Given the description of an element on the screen output the (x, y) to click on. 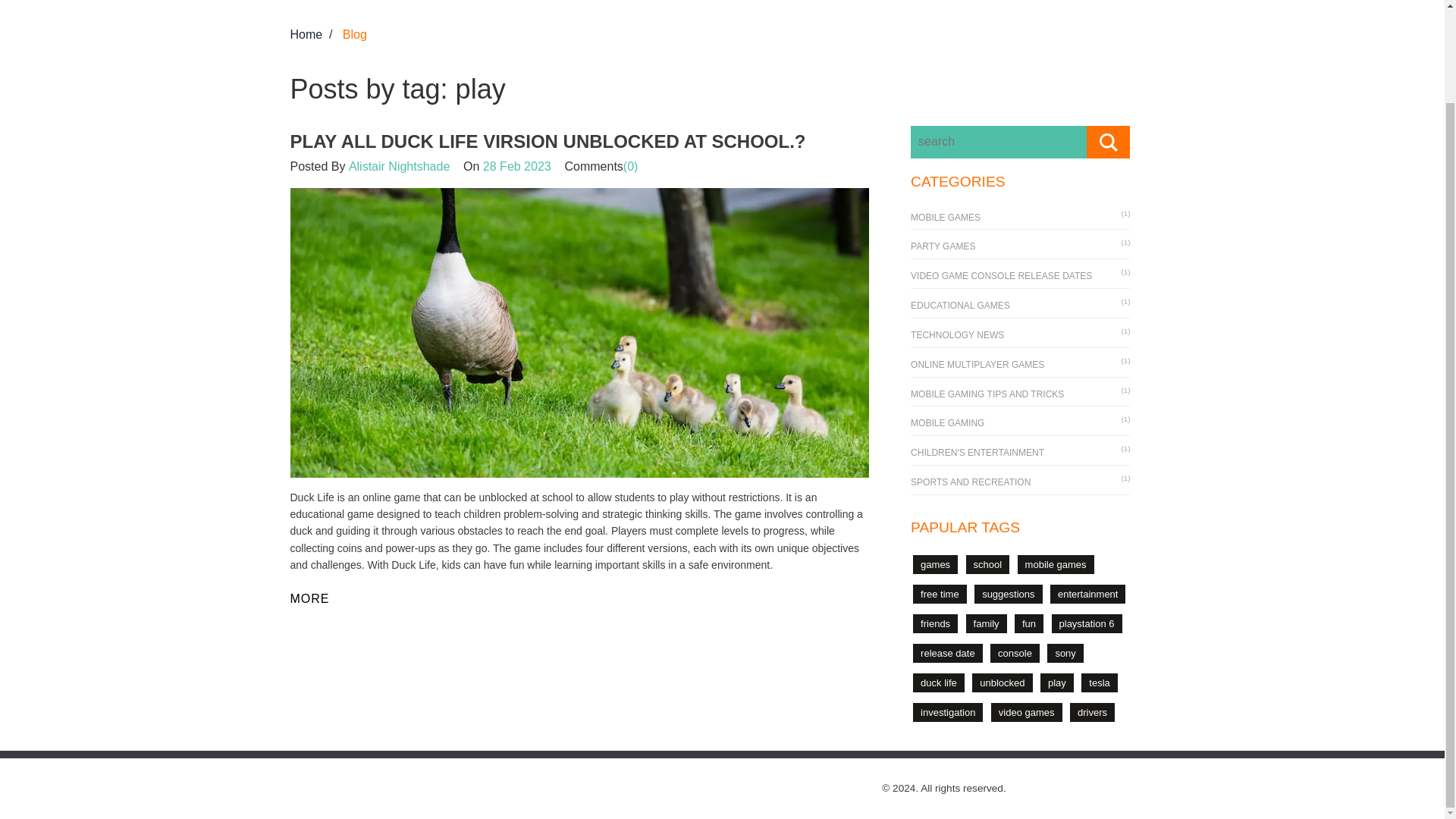
play (1057, 682)
games (935, 564)
school (988, 564)
unblocked (1002, 682)
video games (1026, 711)
tesla (1098, 682)
investigation (947, 711)
Alistair Nightshade (399, 165)
release date (947, 652)
Home (305, 33)
free time (939, 593)
PLAY ALL DUCK LIFE VIRSION UNBLOCKED AT SCHOOL.? (547, 141)
playstation 6 (1086, 623)
duck life (937, 682)
console (1014, 652)
